Given the description of an element on the screen output the (x, y) to click on. 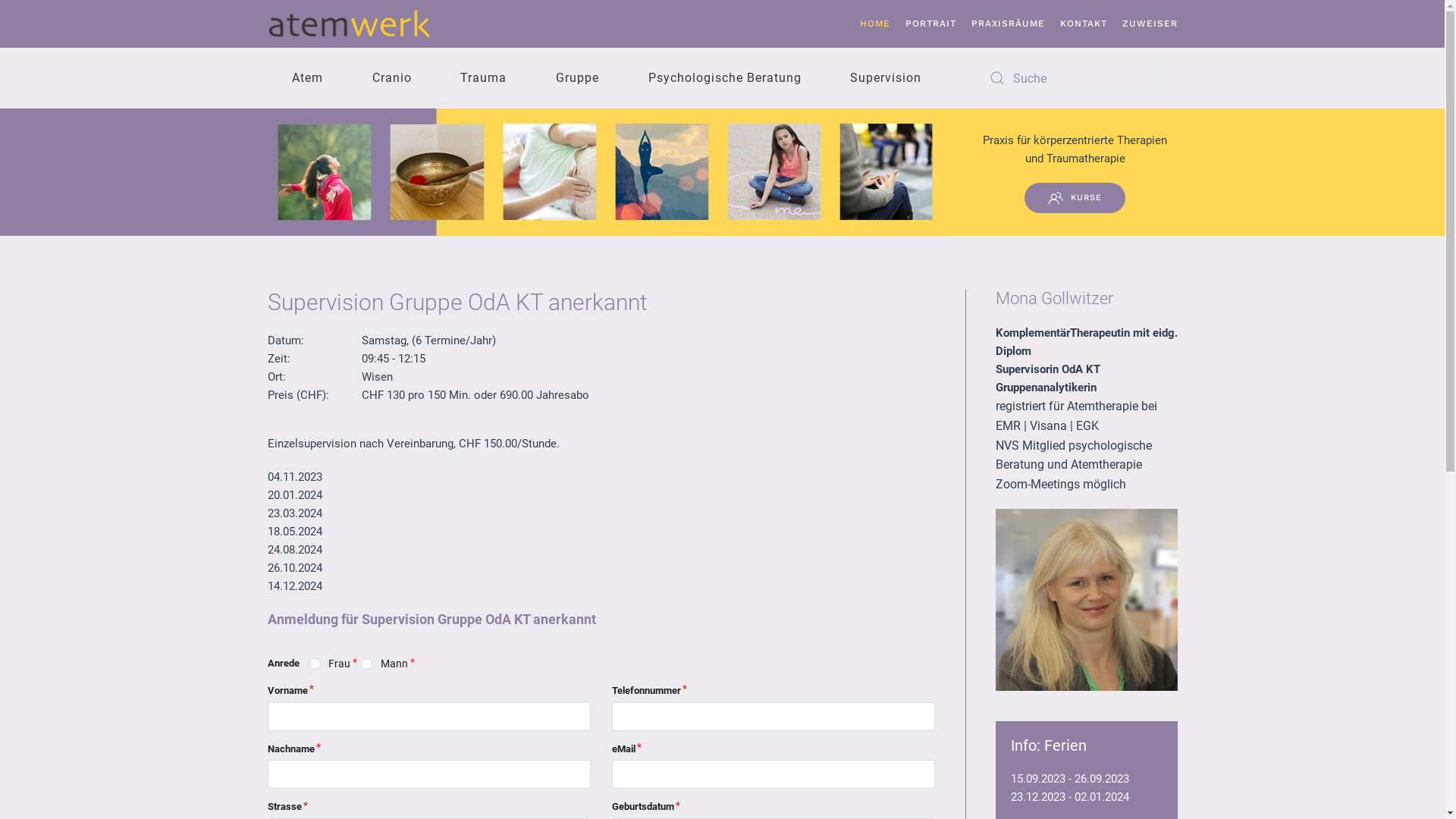
KONTAKT Element type: text (1083, 23)
ZUWEISER Element type: text (1149, 23)
atemwerk | Mona Gollwitzer Element type: hover (353, 23)
HOME Element type: text (874, 23)
Trauma Element type: text (483, 77)
KURSE Element type: text (1074, 197)
Cranio Element type: text (391, 77)
Atem Element type: text (306, 77)
PORTRAIT Element type: text (930, 23)
Gruppe Element type: text (577, 77)
Psychologische Beratung Element type: text (724, 77)
Supervision Element type: text (885, 77)
